Given the description of an element on the screen output the (x, y) to click on. 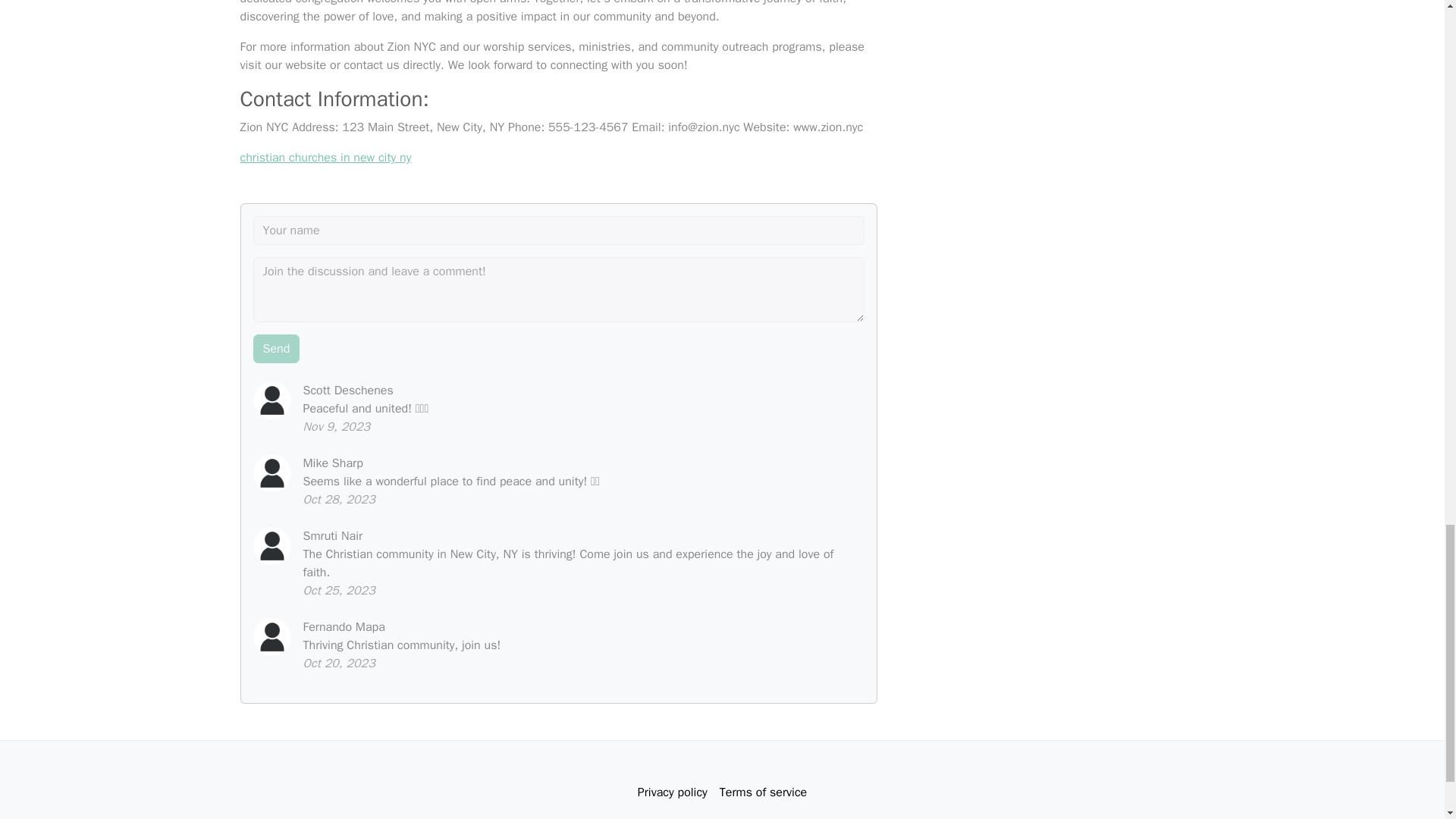
Send (276, 348)
Send (276, 348)
christian churches in new city ny (325, 157)
Privacy policy (672, 792)
Terms of service (762, 792)
